Given the description of an element on the screen output the (x, y) to click on. 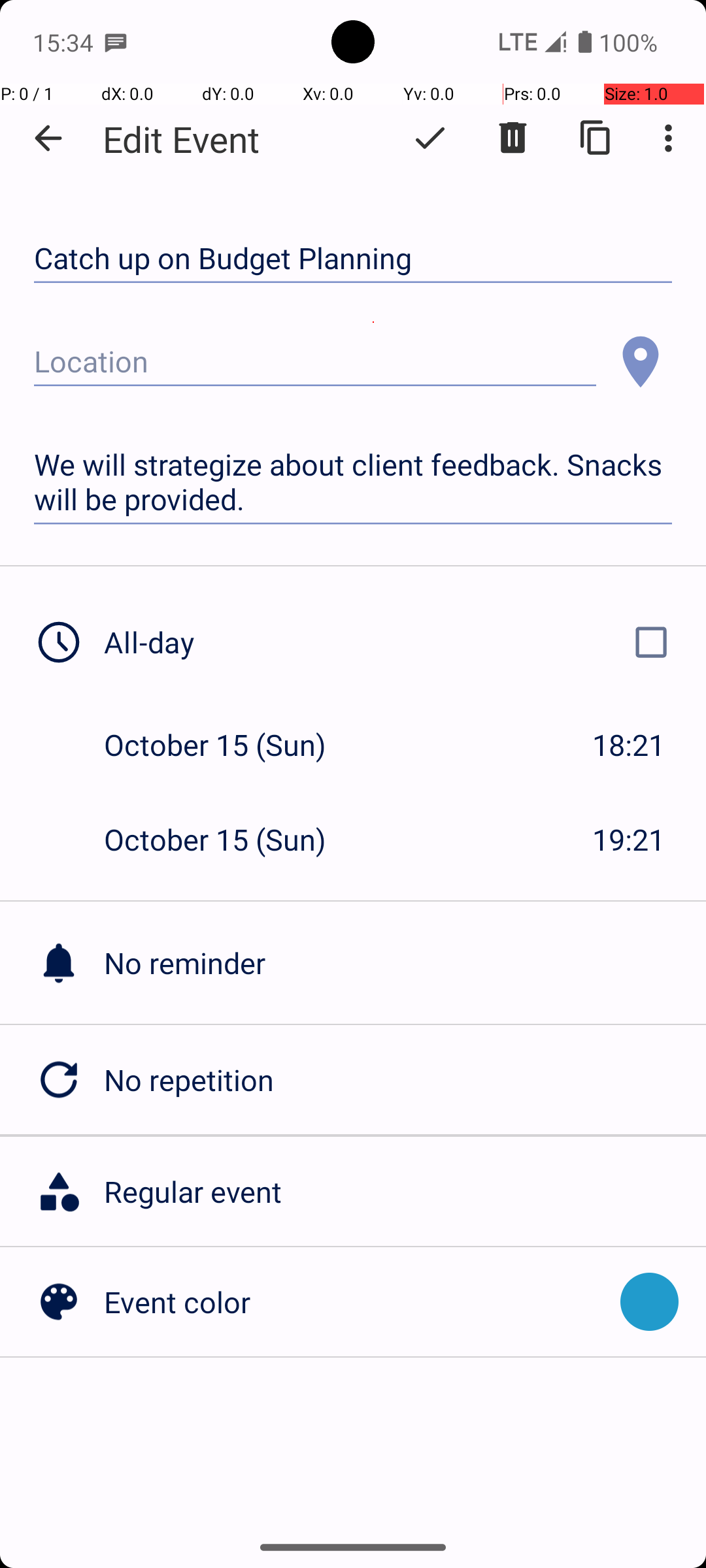
We will strategize about client feedback. Snacks will be provided. Element type: android.widget.EditText (352, 482)
18:21 Element type: android.widget.TextView (628, 744)
19:21 Element type: android.widget.TextView (628, 838)
